Given the description of an element on the screen output the (x, y) to click on. 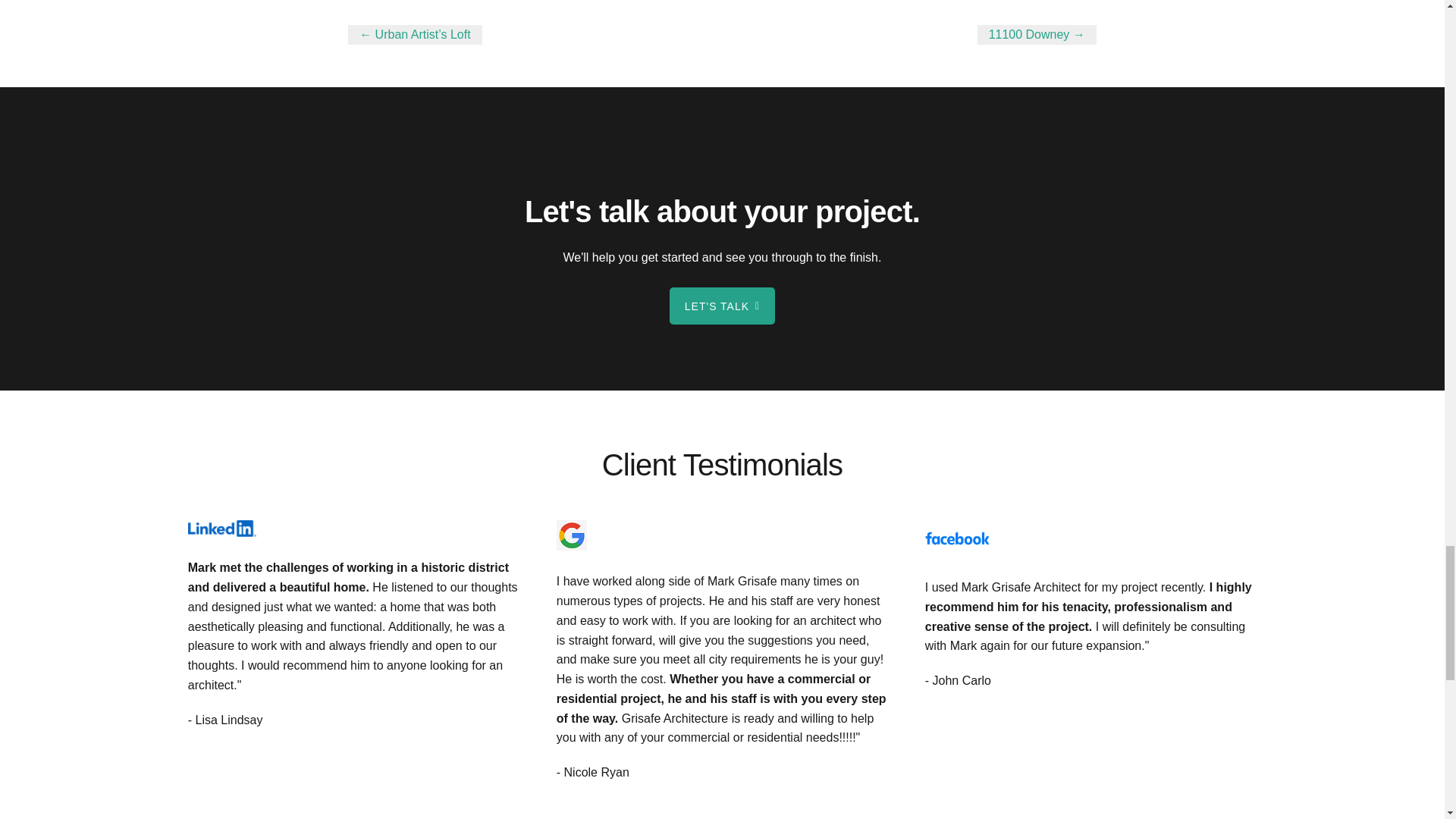
LET'S TALK (721, 305)
